Given the description of an element on the screen output the (x, y) to click on. 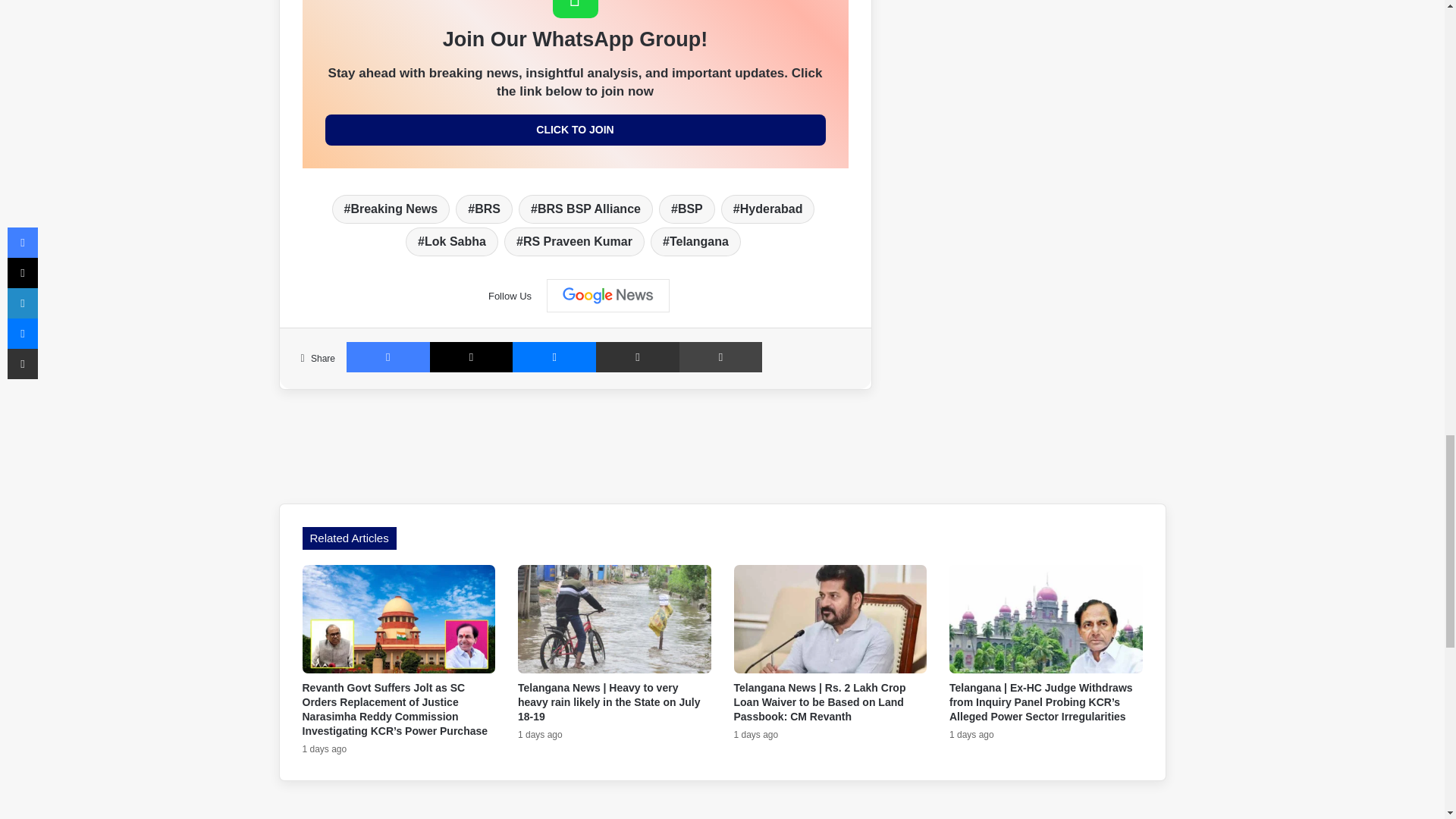
X (471, 357)
Google News (608, 295)
Share via Email (637, 357)
Messenger (553, 357)
Facebook (387, 357)
Print (720, 357)
